Given the description of an element on the screen output the (x, y) to click on. 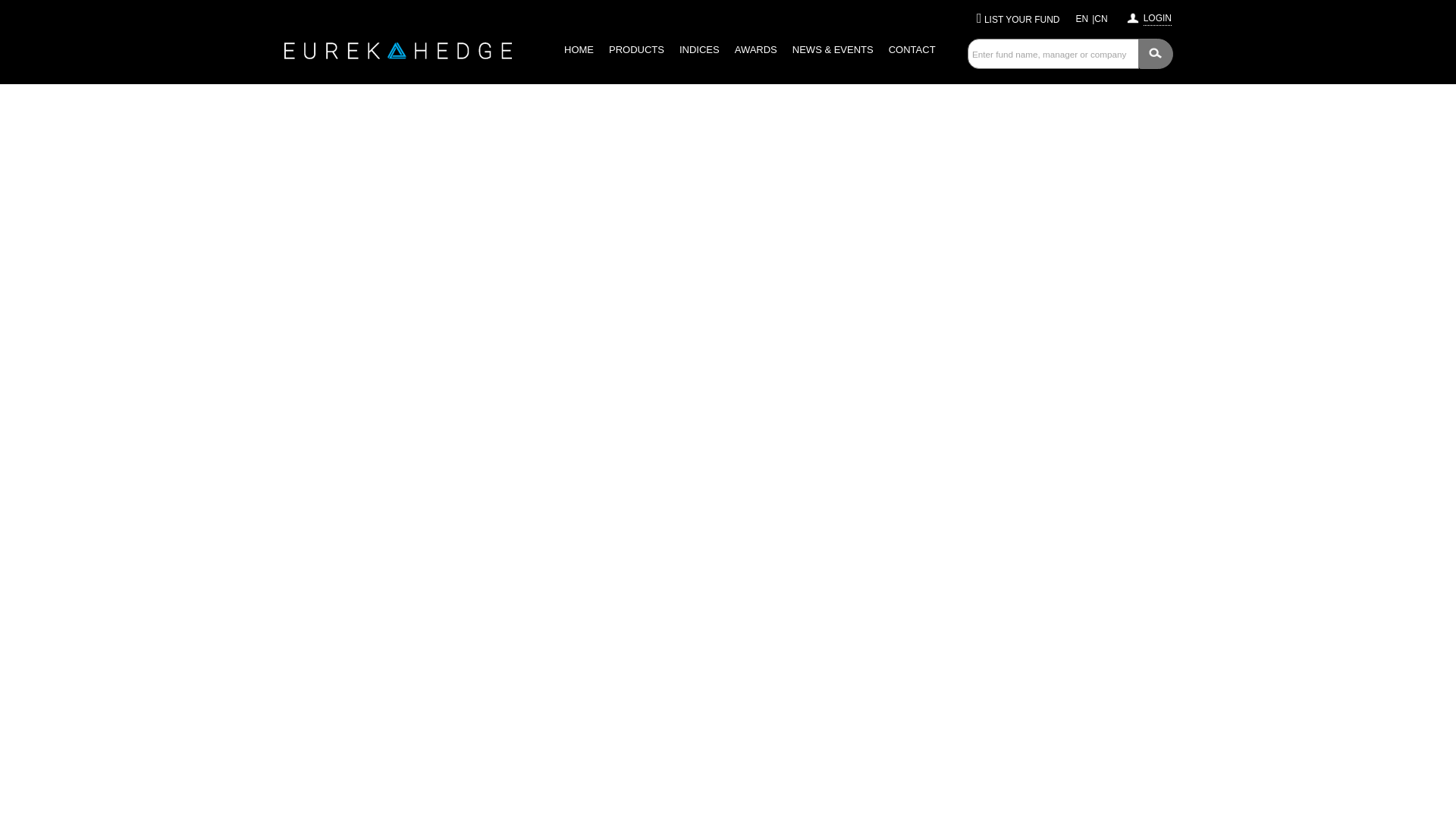
PRODUCTS (636, 50)
LIST YOUR FUND (1021, 19)
INDICES (698, 50)
LOGIN (1157, 16)
EN (1082, 18)
HOME (578, 50)
CN (1100, 18)
